Given the description of an element on the screen output the (x, y) to click on. 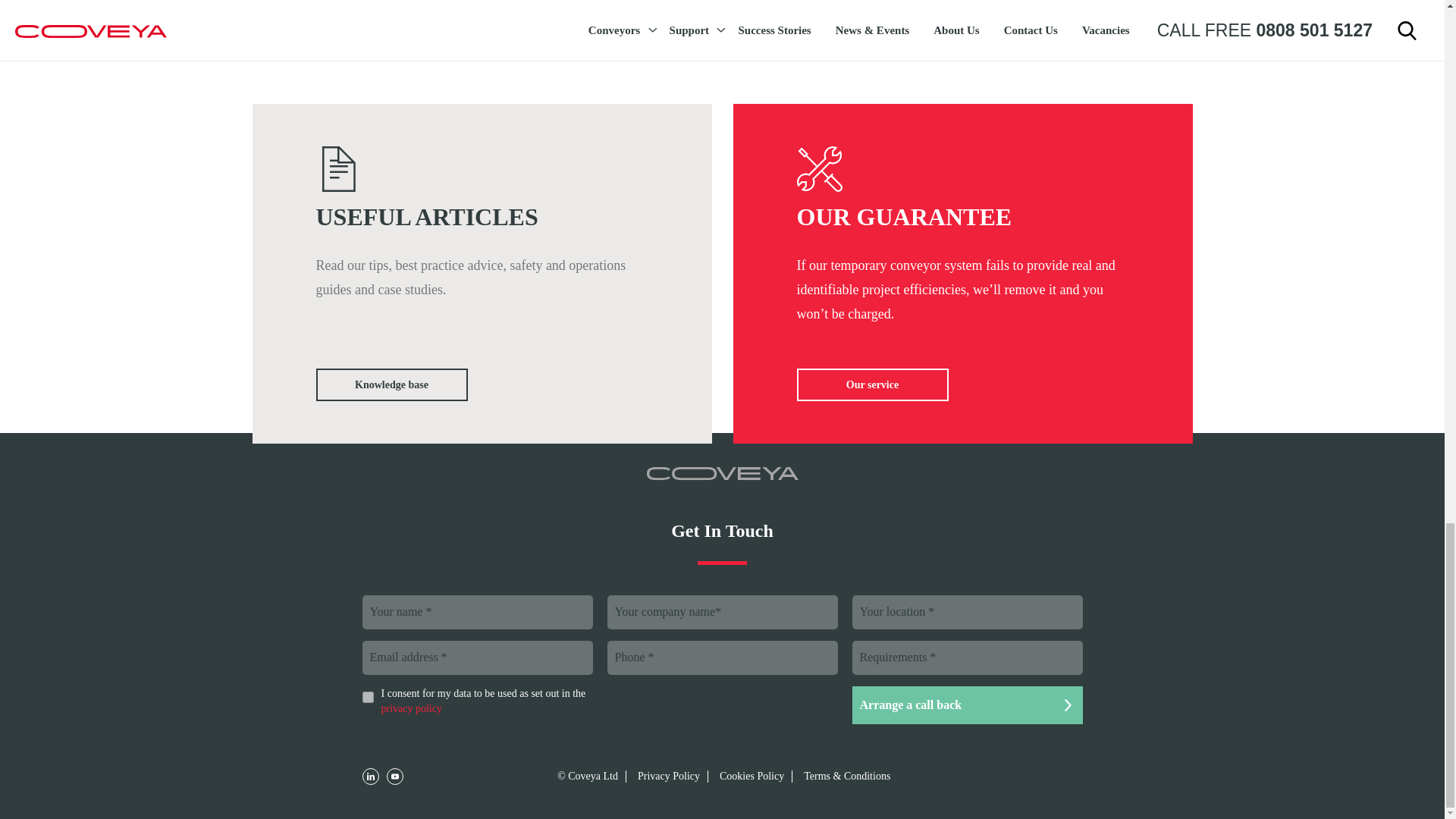
1 (368, 696)
